Given the description of an element on the screen output the (x, y) to click on. 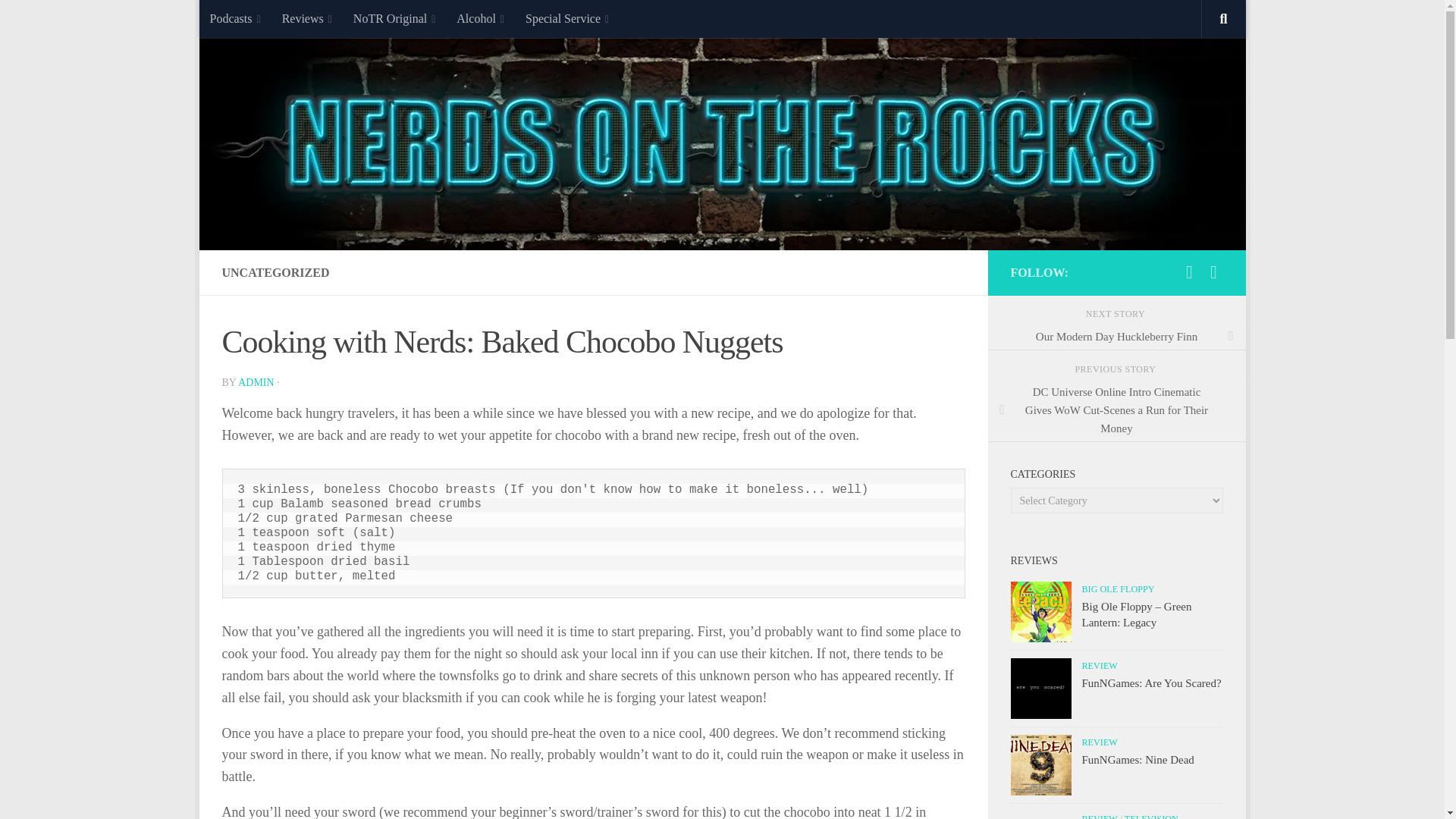
Skip to content (258, 20)
Posts by admin (255, 382)
Follow us on Facebook-square (1213, 271)
Follow us on Twitter-square (1188, 271)
